Given the description of an element on the screen output the (x, y) to click on. 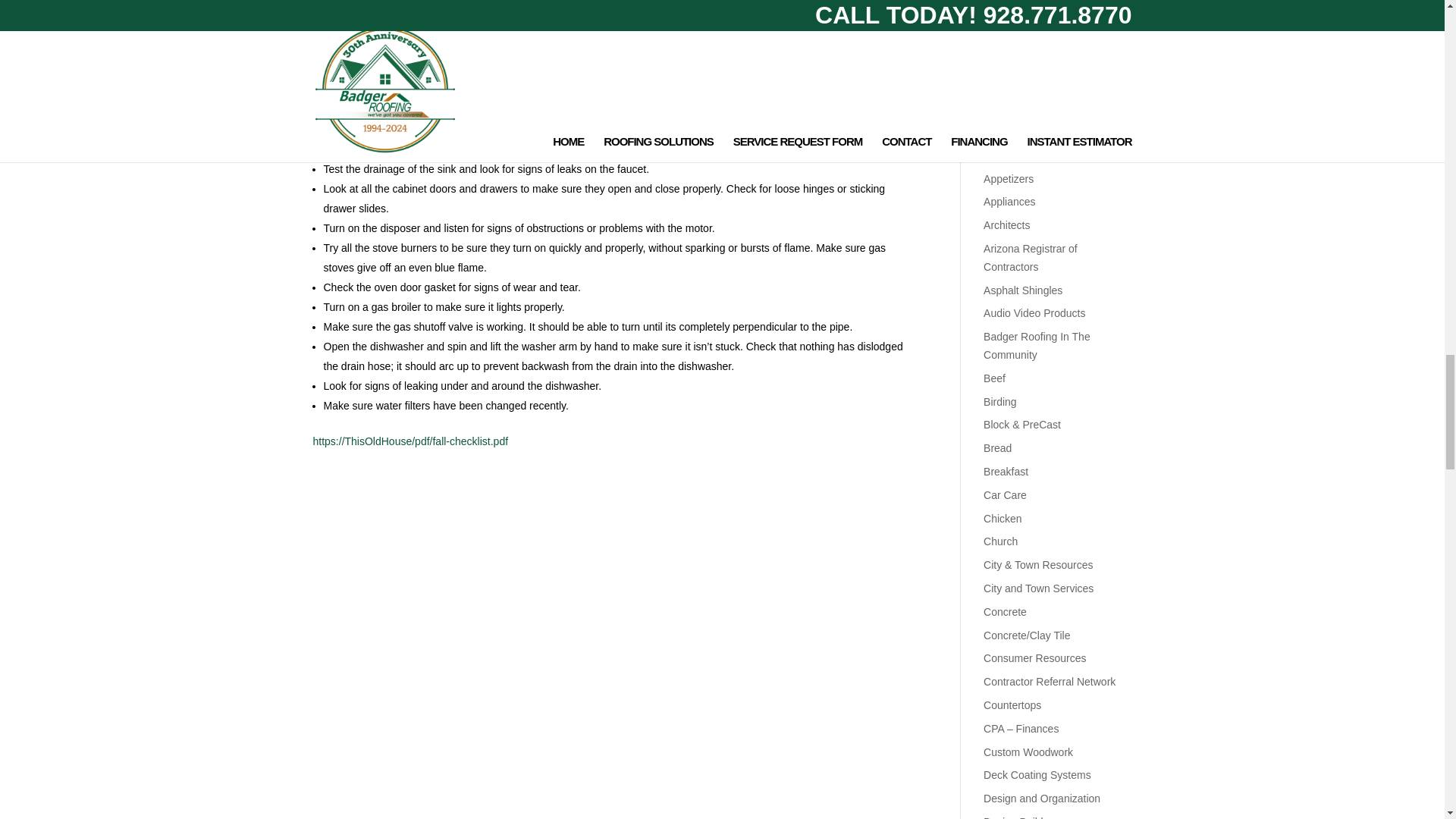
This Old House (410, 440)
